Given the description of an element on the screen output the (x, y) to click on. 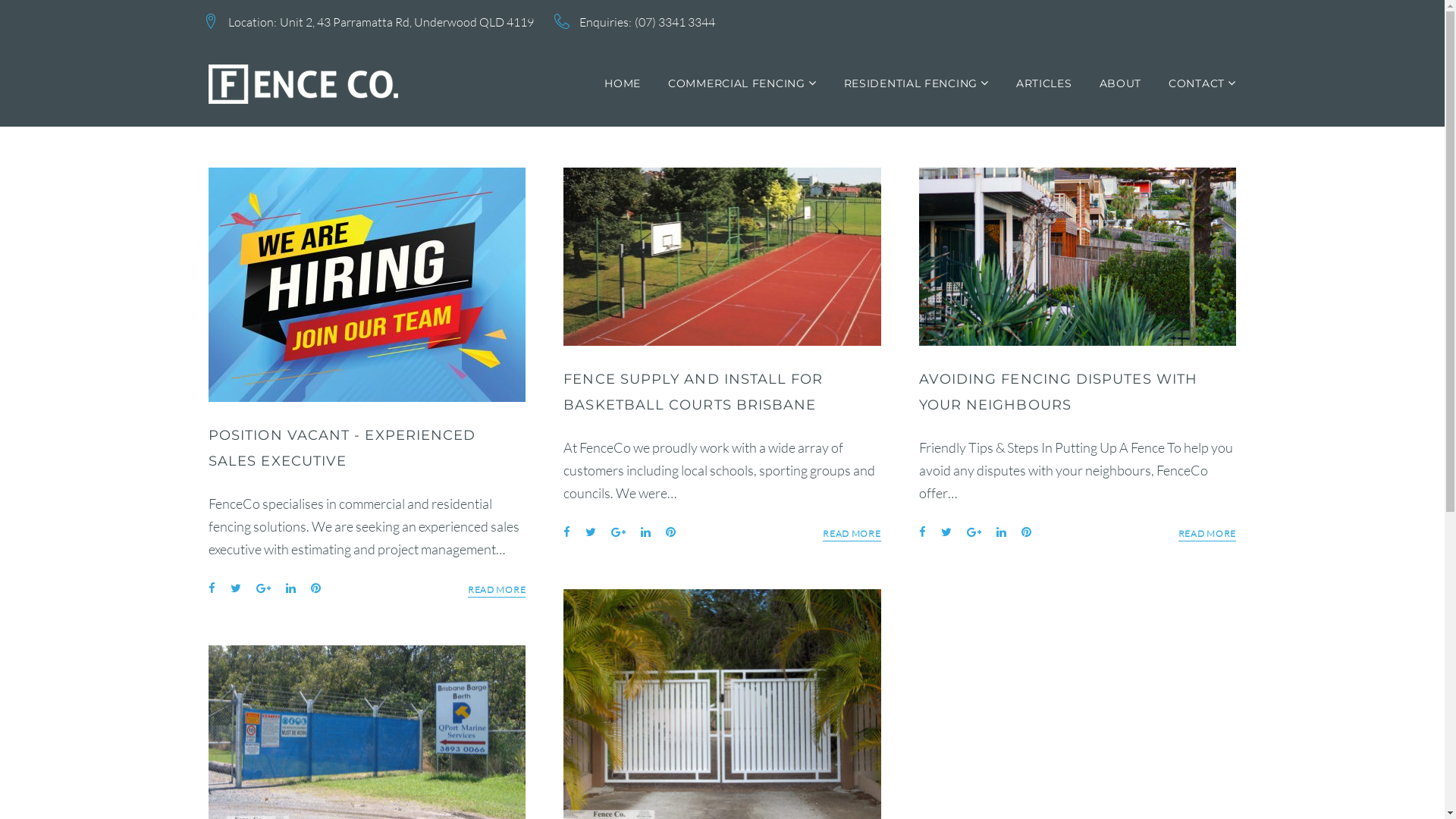
Google+ Element type: text (973, 532)
FENCE SUPPLY AND INSTALL FOR BASKETBALL COURTS BRISBANE Element type: text (692, 391)
READ MORE Element type: text (851, 534)
Google+ Element type: text (263, 588)
AVOIDING FENCING DISPUTES WITH YOUR NEIGHBOURS Element type: text (1058, 391)
Pinterest Element type: text (670, 532)
Facebook Element type: text (211, 588)
READ MORE Element type: text (1207, 534)
ABOUT Element type: text (1120, 83)
Skip to content Element type: text (0, 0)
COMMERCIAL FENCING Element type: text (742, 83)
READ MORE Element type: text (496, 590)
LinkedIn Element type: text (645, 532)
Twitter Element type: text (946, 532)
ARTICLES Element type: text (1044, 83)
POSITION VACANT - EXPERIENCED SALES EXECUTIVE Element type: text (341, 447)
RESIDENTIAL FENCING Element type: text (916, 83)
Pinterest Element type: text (315, 588)
Twitter Element type: text (590, 532)
Twitter Element type: text (235, 588)
Google+ Element type: text (618, 532)
LinkedIn Element type: text (290, 588)
(07) 3341 3344 Element type: text (674, 21)
Facebook Element type: text (566, 532)
HOME Element type: text (622, 83)
LinkedIn Element type: text (1001, 532)
Facebook Element type: text (922, 532)
CONTACT Element type: text (1202, 83)
Pinterest Element type: text (1026, 532)
